Given the description of an element on the screen output the (x, y) to click on. 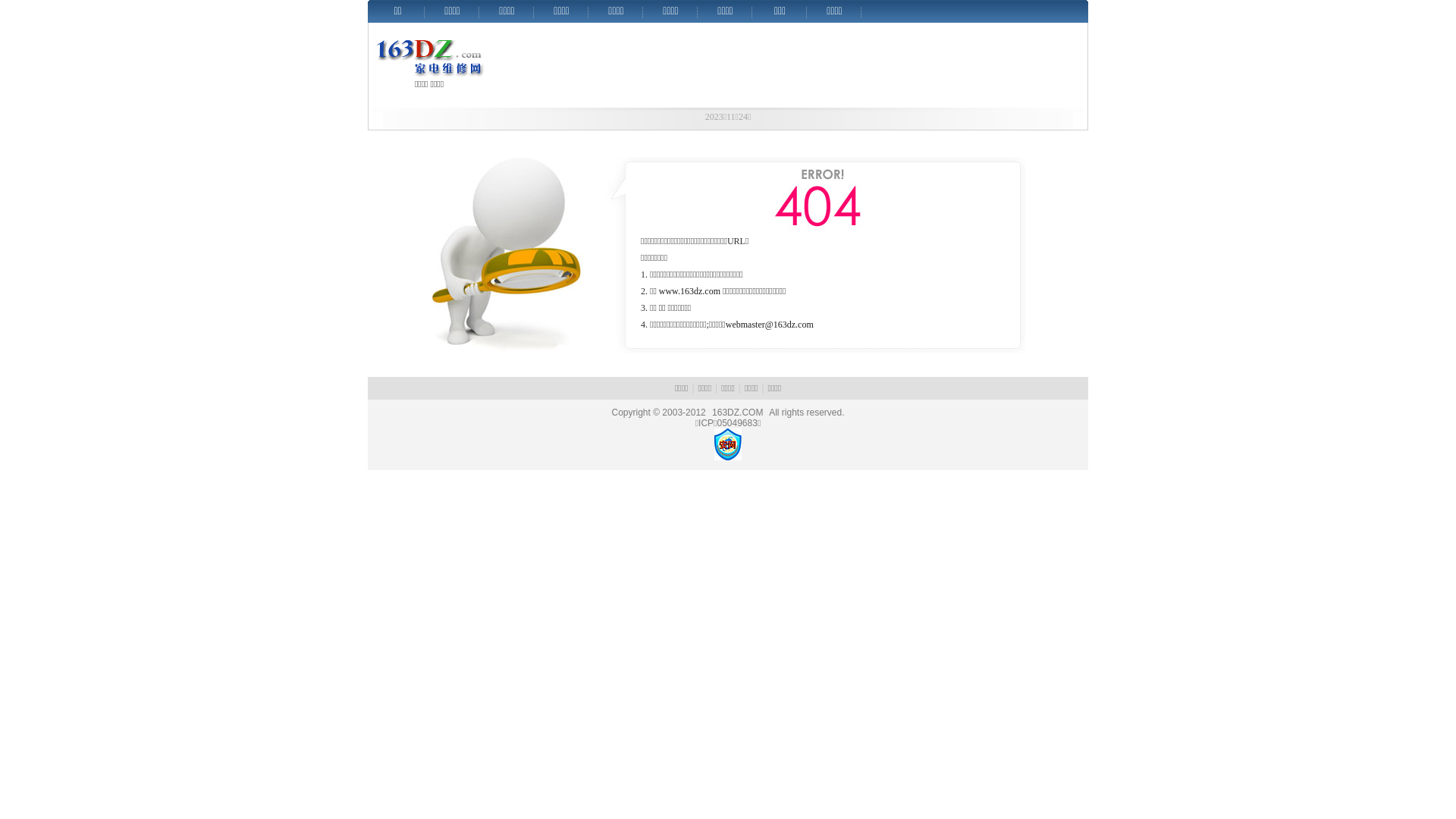
www.163dz.com Element type: text (689, 290)
163DZ.COM Element type: text (737, 412)
webmaster@163dz.com Element type: text (769, 324)
